Given the description of an element on the screen output the (x, y) to click on. 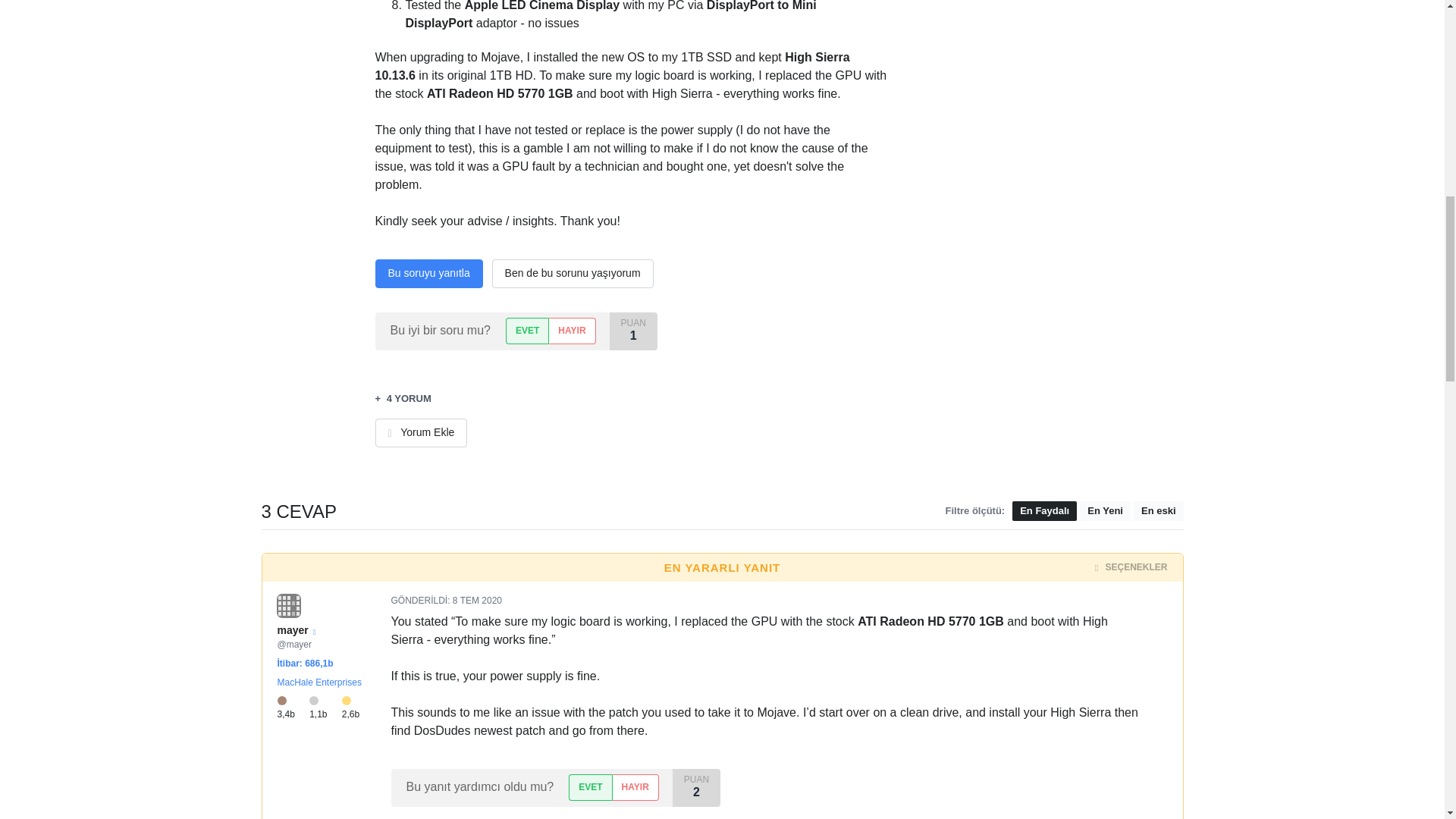
Wed, 08 Jul 2020 11:18:35 -0700 (477, 600)
3484 Bronz rozeti (294, 708)
